Given the description of an element on the screen output the (x, y) to click on. 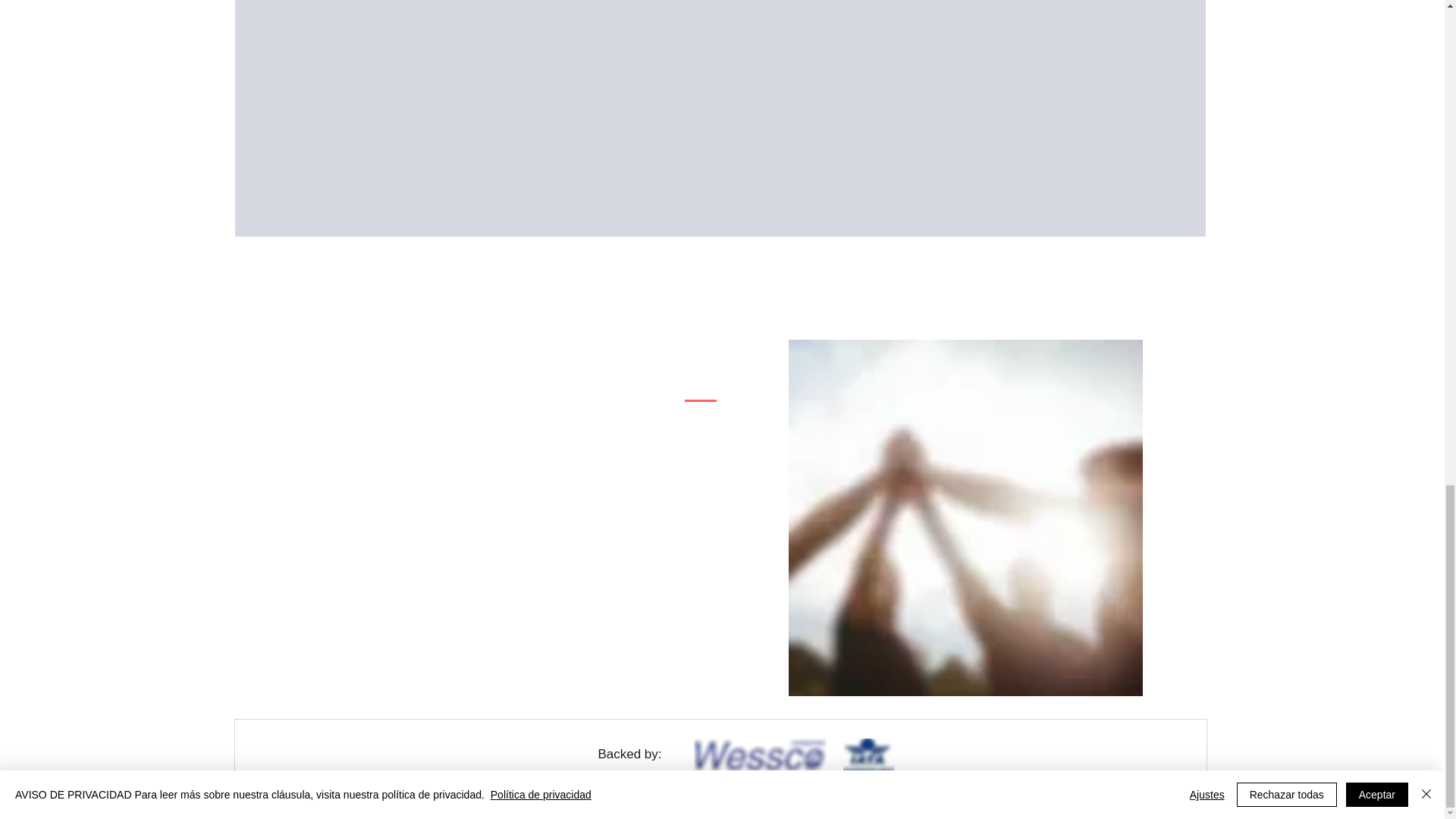
www.adswhiplash.com (846, 803)
